Given the description of an element on the screen output the (x, y) to click on. 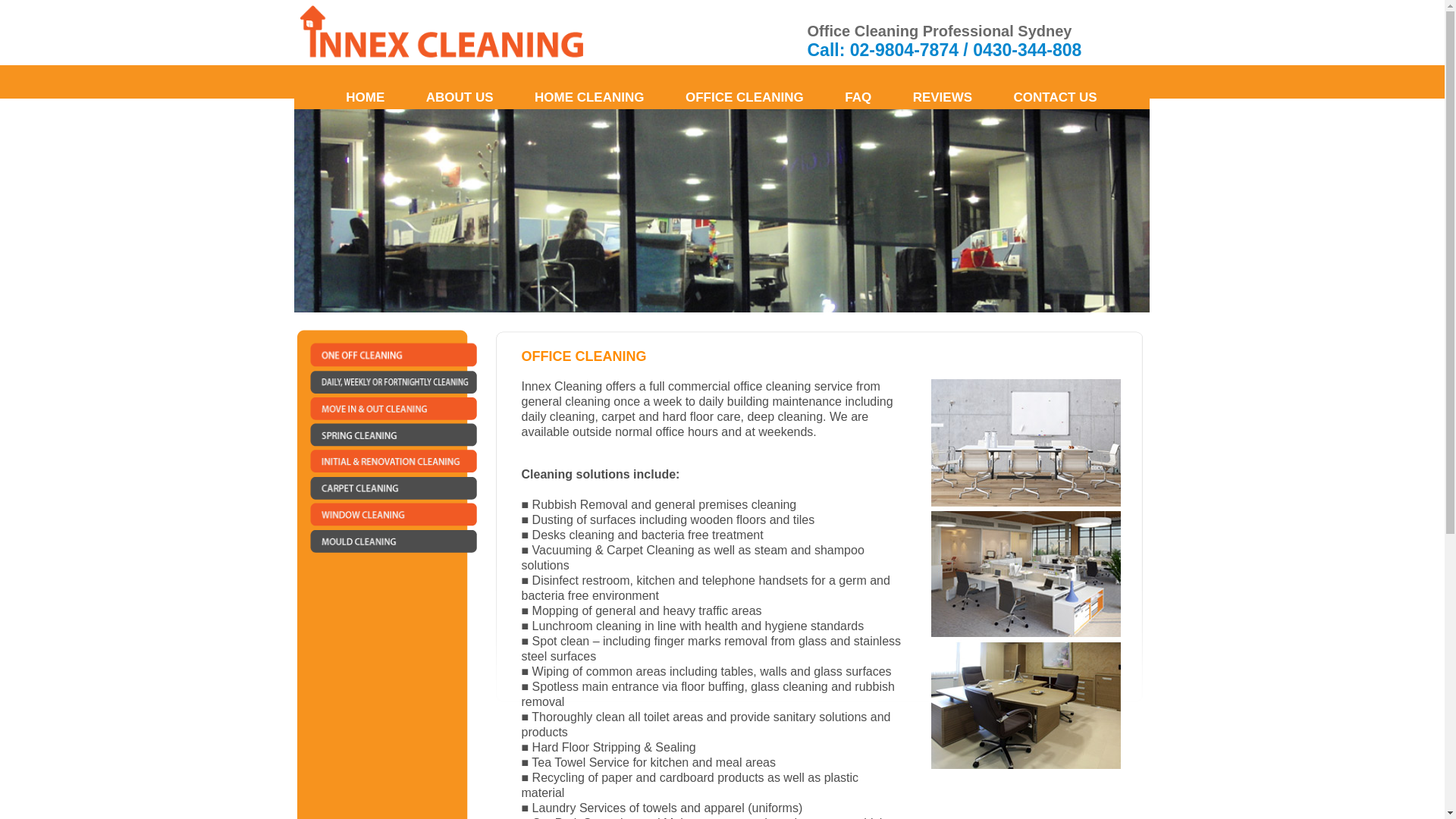
ABOUT US Element type: text (459, 97)
CONTACT US Element type: text (1055, 97)
HOME Element type: text (364, 97)
REVIEWS Element type: text (942, 97)
HOME CLEANING Element type: text (589, 97)
OFFICE CLEANING Element type: text (744, 97)
FAQ Element type: text (857, 97)
